Given the description of an element on the screen output the (x, y) to click on. 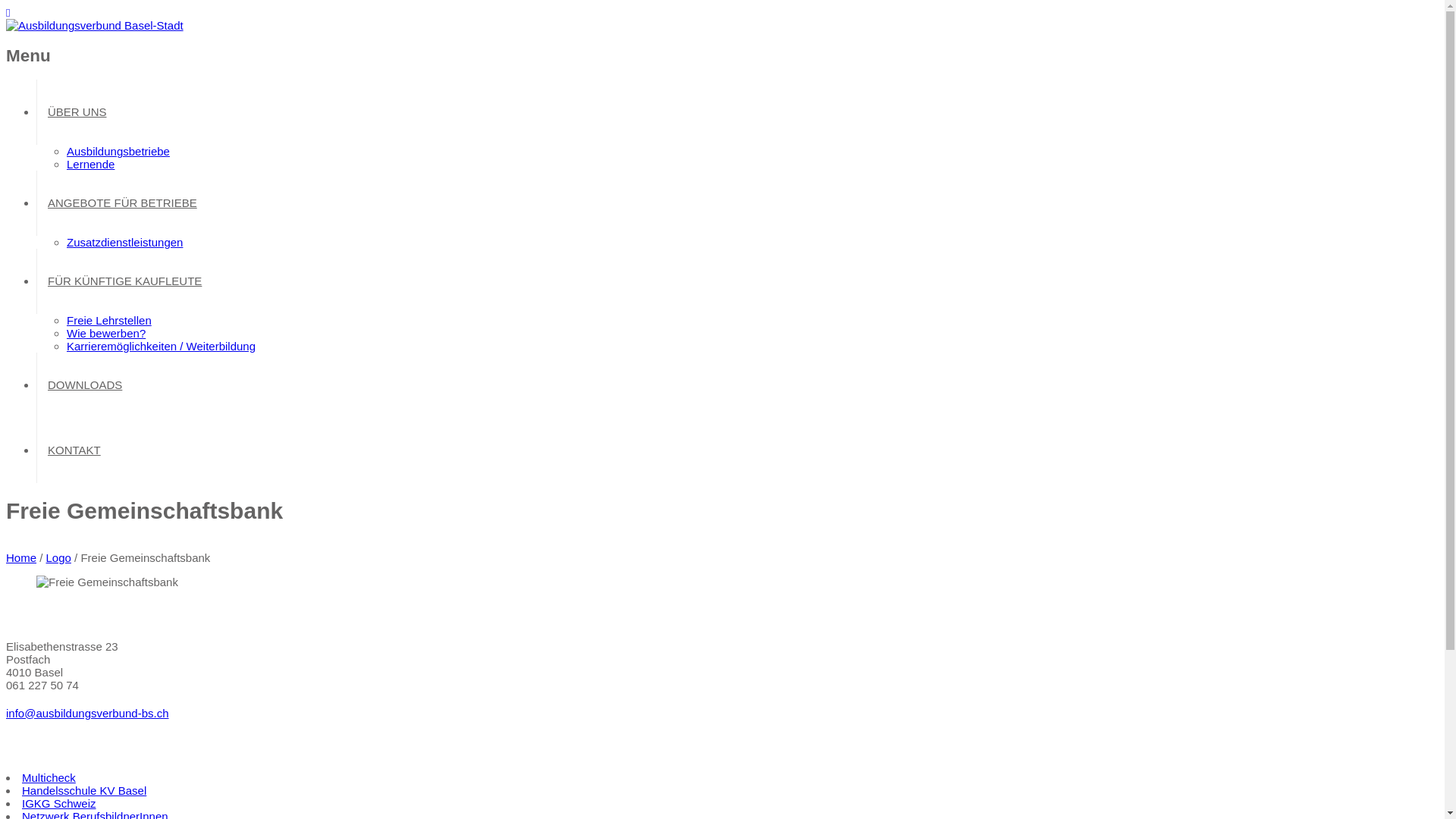
Handelsschule KV Basel Element type: text (83, 790)
DOWNLOADS Element type: text (84, 384)
Freie Lehrstellen Element type: text (108, 319)
Zusatzdienstleistungen Element type: text (124, 241)
info@ausbildungsverbund-bs.ch Element type: text (87, 712)
Lernende Element type: text (90, 163)
Wie bewerben? Element type: text (105, 332)
Logo Element type: text (58, 557)
instagram Element type: hover (7, 12)
Home Element type: text (21, 557)
KONTAKT Element type: text (73, 450)
Ausbildungsbetriebe Element type: text (117, 150)
Multicheck Element type: text (48, 777)
IGKG Schweiz Element type: text (58, 803)
